Given the description of an element on the screen output the (x, y) to click on. 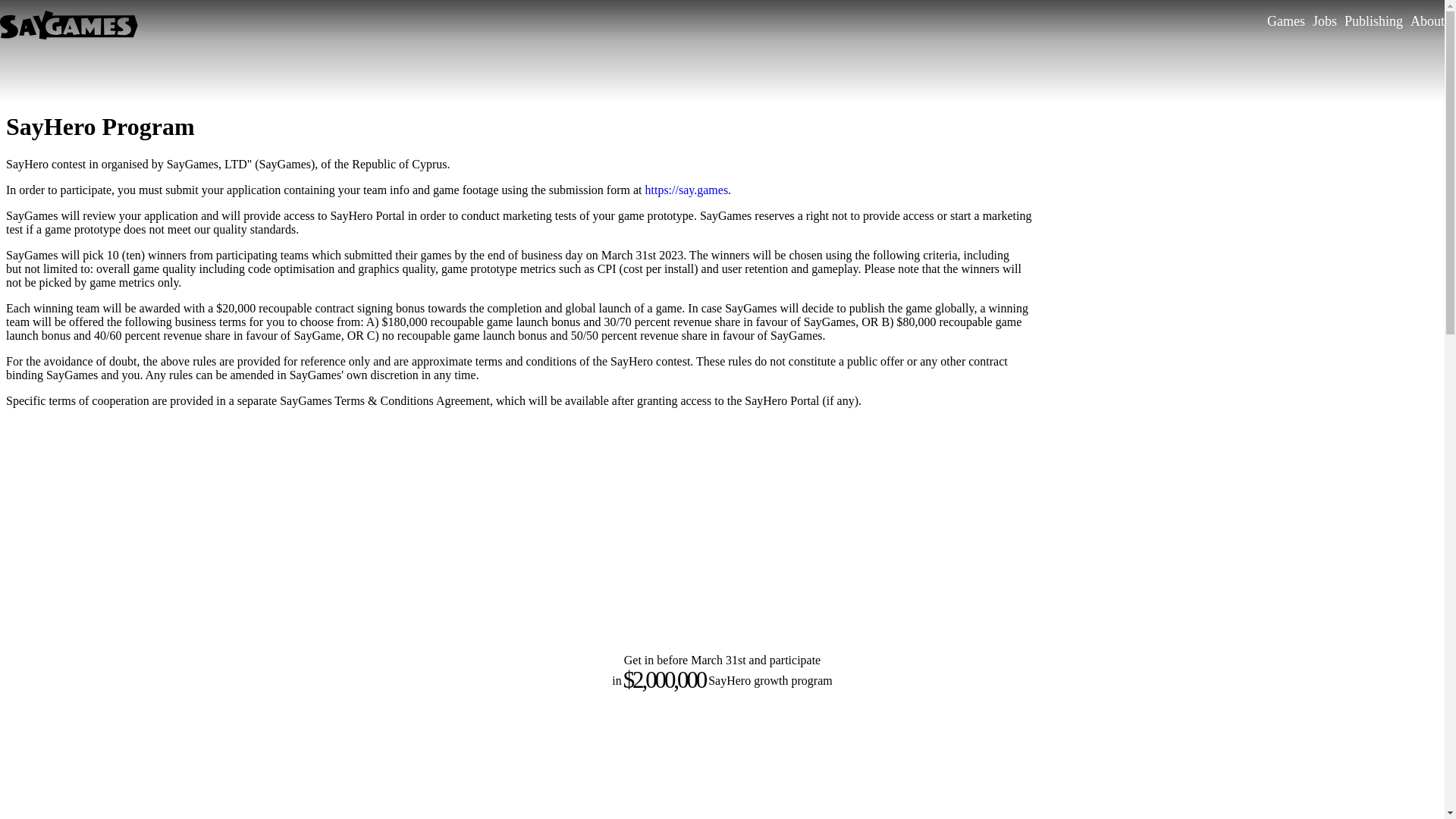
Jobs Element type: text (1324, 20)
Publishing Element type: text (1373, 20)
About Element type: text (1427, 20)
Games Element type: text (1286, 20)
https://say.games Element type: text (686, 189)
